Given the description of an element on the screen output the (x, y) to click on. 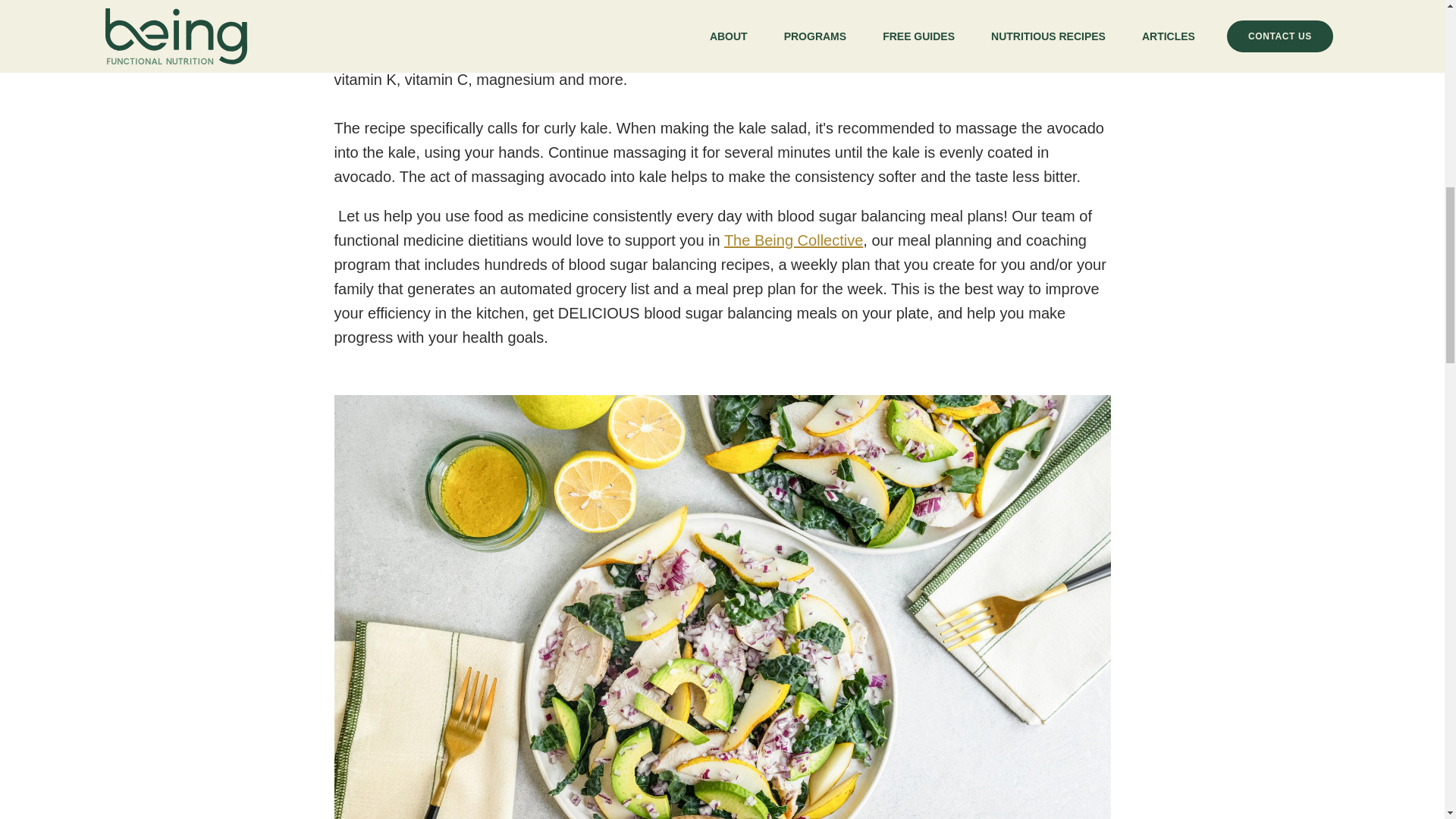
The Being Collective (793, 239)
